Given the description of an element on the screen output the (x, y) to click on. 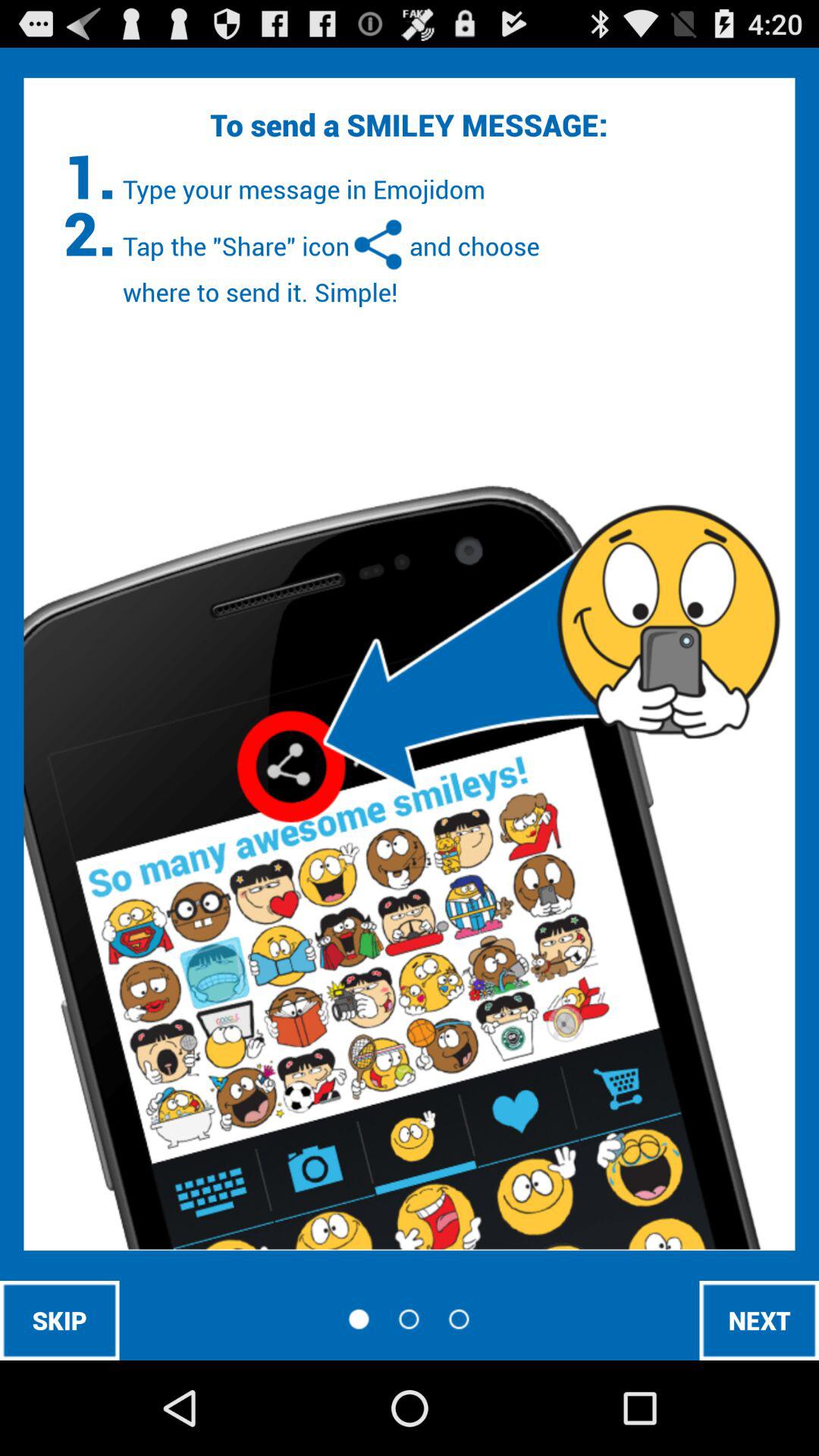
launch the button at the bottom right corner (759, 1320)
